Given the description of an element on the screen output the (x, y) to click on. 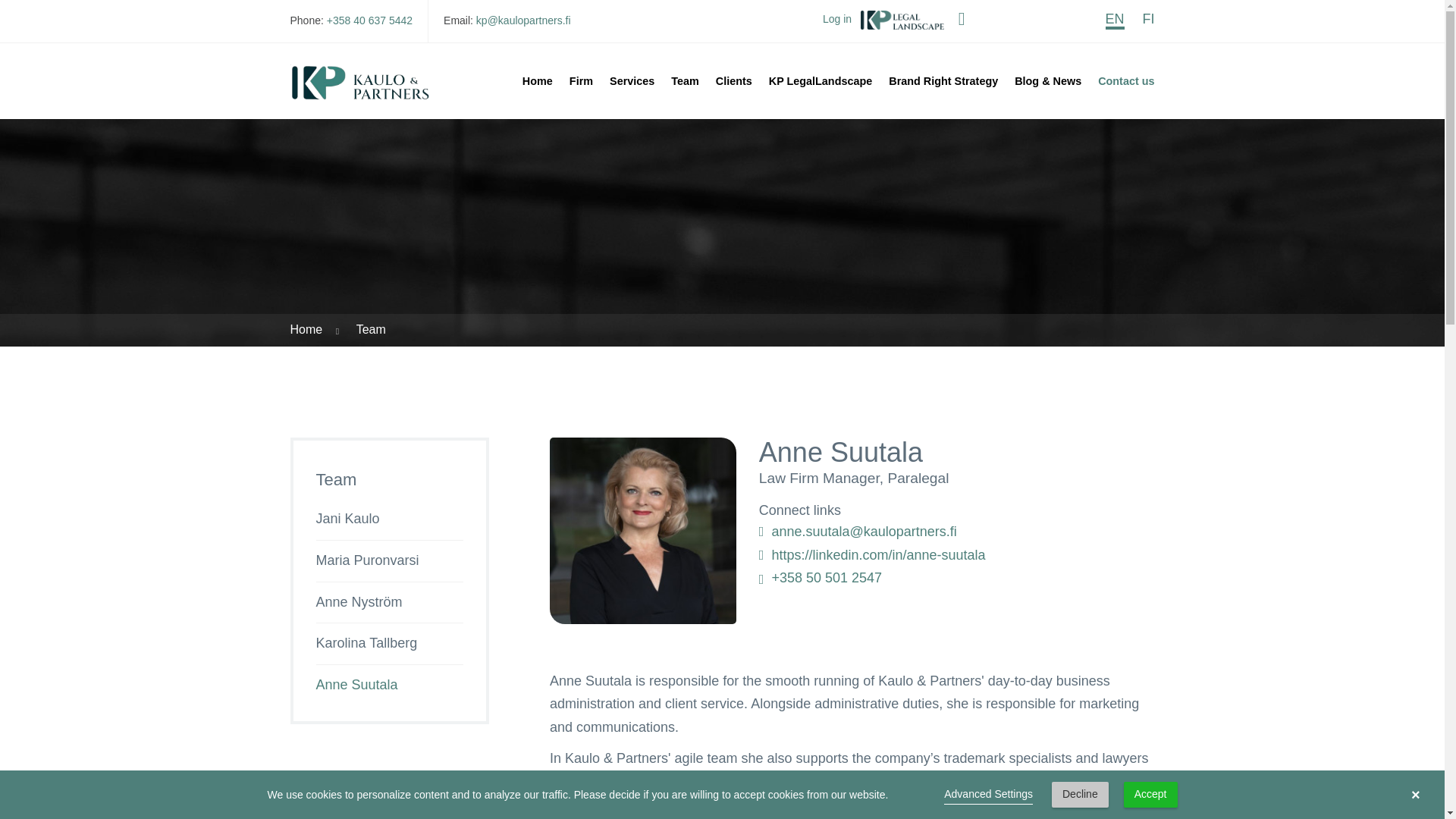
Services (631, 80)
Clients (733, 80)
Log in   (882, 19)
Decline (1079, 794)
KP LegalLandscape (820, 80)
Firm (580, 80)
EN (1114, 20)
FI (1147, 18)
Brand Right Strategy (943, 80)
Accept (1150, 794)
Home (305, 328)
Home (536, 80)
Contact us (1121, 80)
Team (684, 80)
Advanced Settings (987, 794)
